Given the description of an element on the screen output the (x, y) to click on. 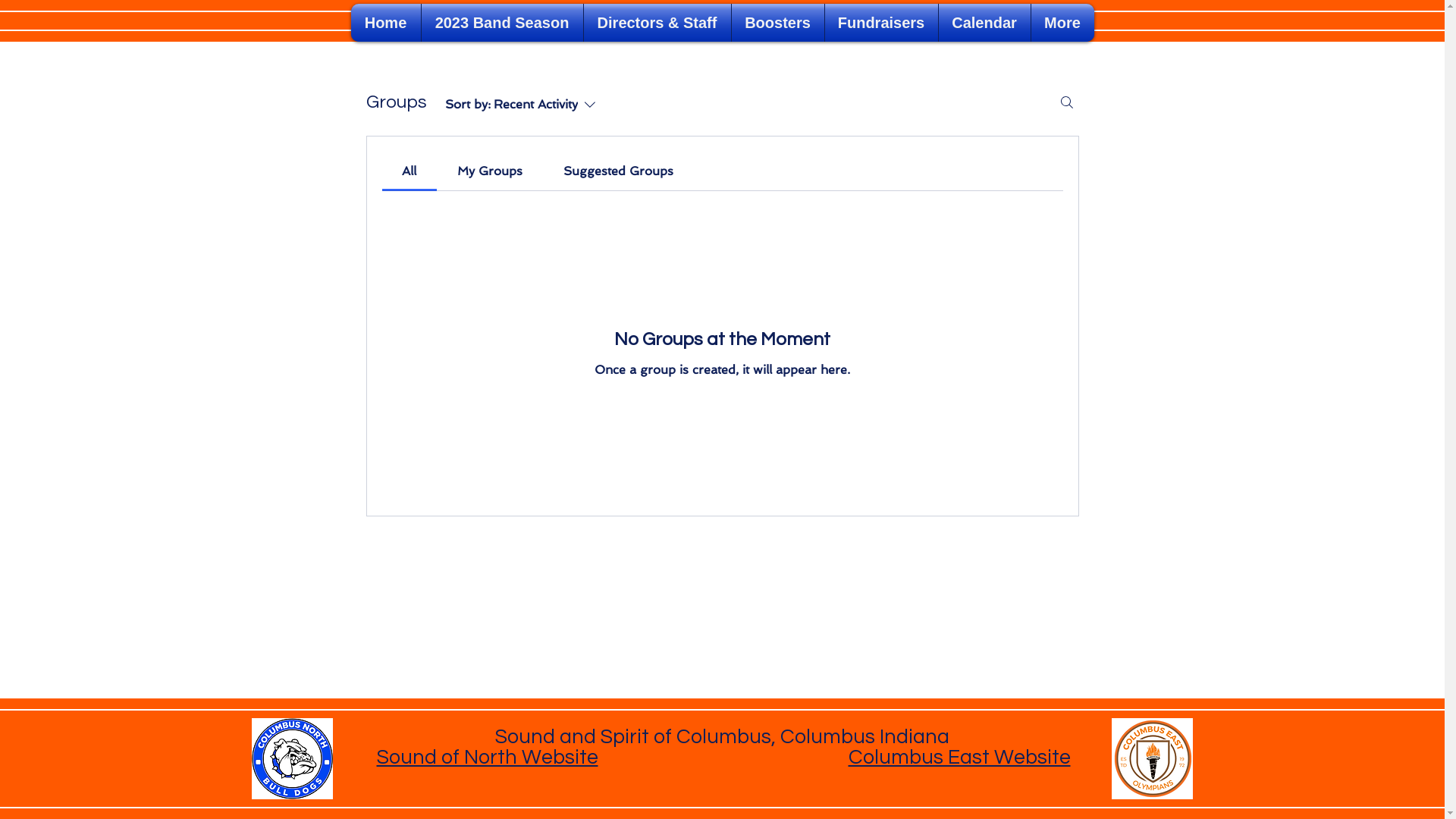
Directors & Staff Element type: text (657, 22)
Calendar Element type: text (984, 22)
2023 Band Season Element type: text (502, 22)
Sort by:
Recent Activity Element type: text (527, 104)
East_logo.png Element type: hover (1152, 758)
Columbus East Website Element type: text (958, 757)
Boosters Element type: text (777, 22)
Sound of North Website Element type: text (486, 757)
Home Element type: text (385, 22)
Fundraisers Element type: text (881, 22)
